Given the description of an element on the screen output the (x, y) to click on. 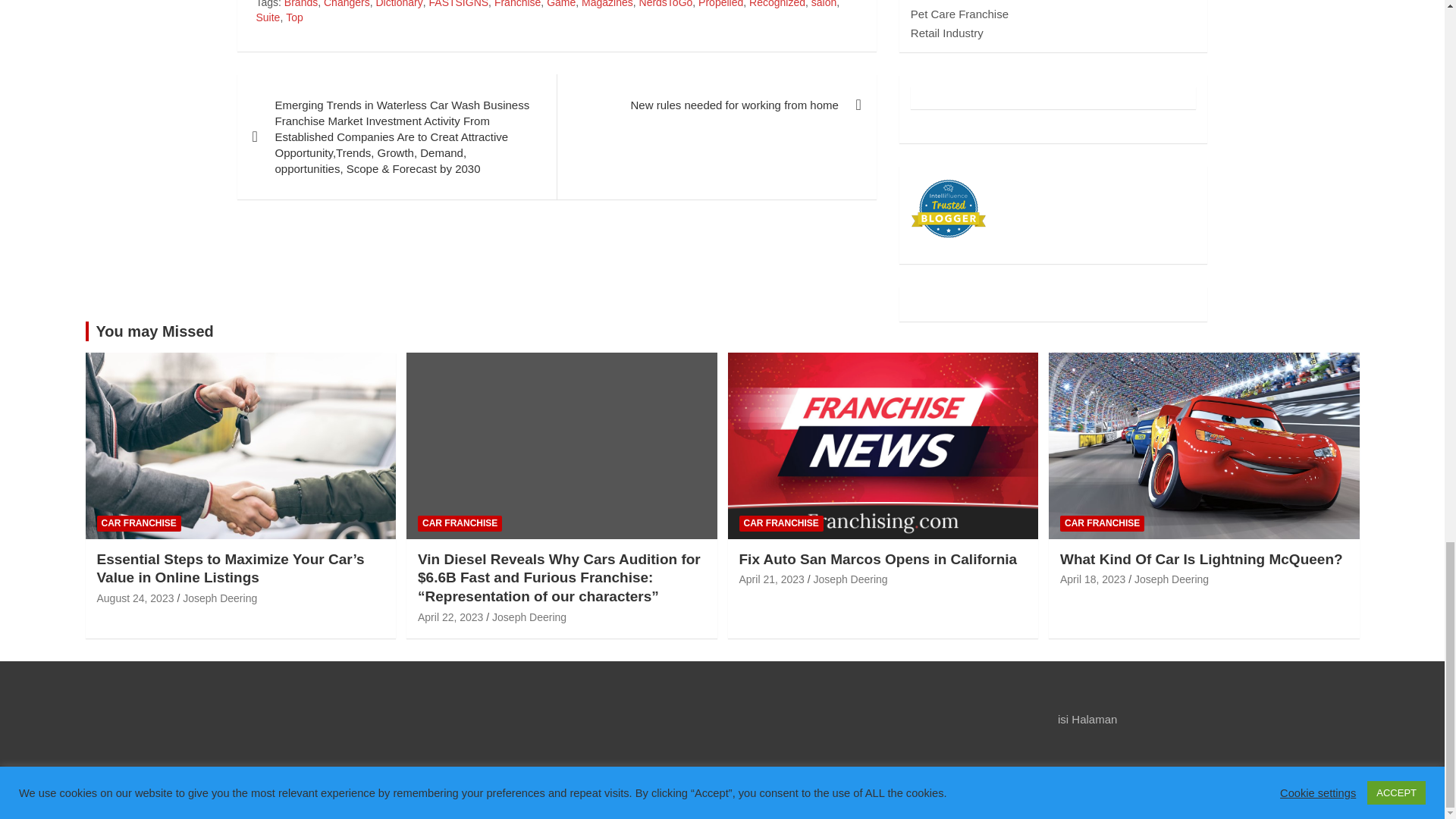
Franchise (517, 5)
What Kind Of Car Is Lightning McQueen? (1092, 579)
Recognized (777, 5)
NerdsToGo (666, 5)
Dictionary (398, 5)
Game (561, 5)
Changers (346, 5)
Theme Horse (494, 791)
Fix Auto San Marcos Opens in California (770, 579)
Magazines (606, 5)
Brands (300, 5)
Propelled (720, 5)
Franchise Business Club (239, 791)
FASTSIGNS (459, 5)
WordPress (680, 791)
